Given the description of an element on the screen output the (x, y) to click on. 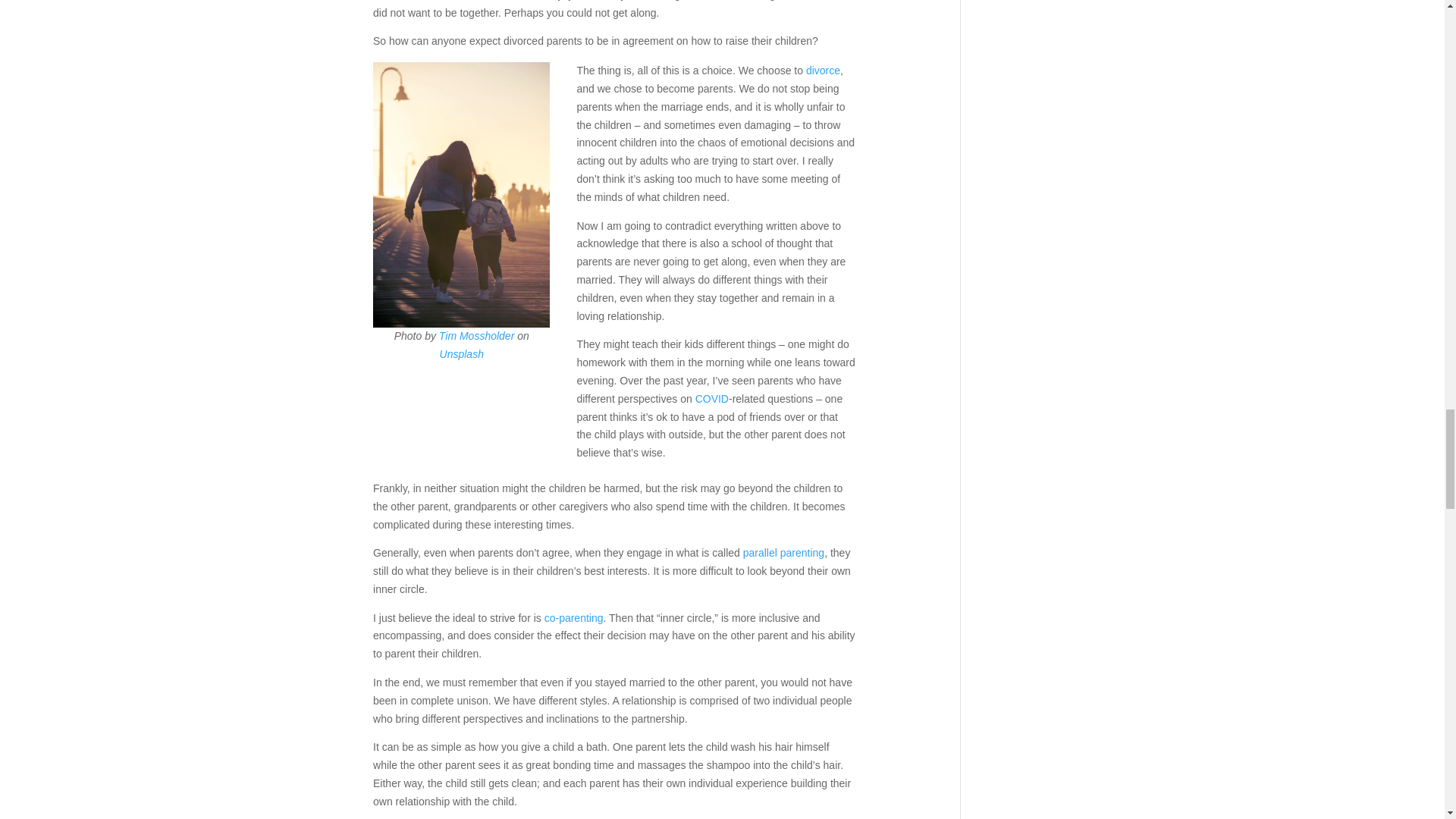
tim-mossholder-FIdkkBWmF7Y-unsplash (461, 194)
